Given the description of an element on the screen output the (x, y) to click on. 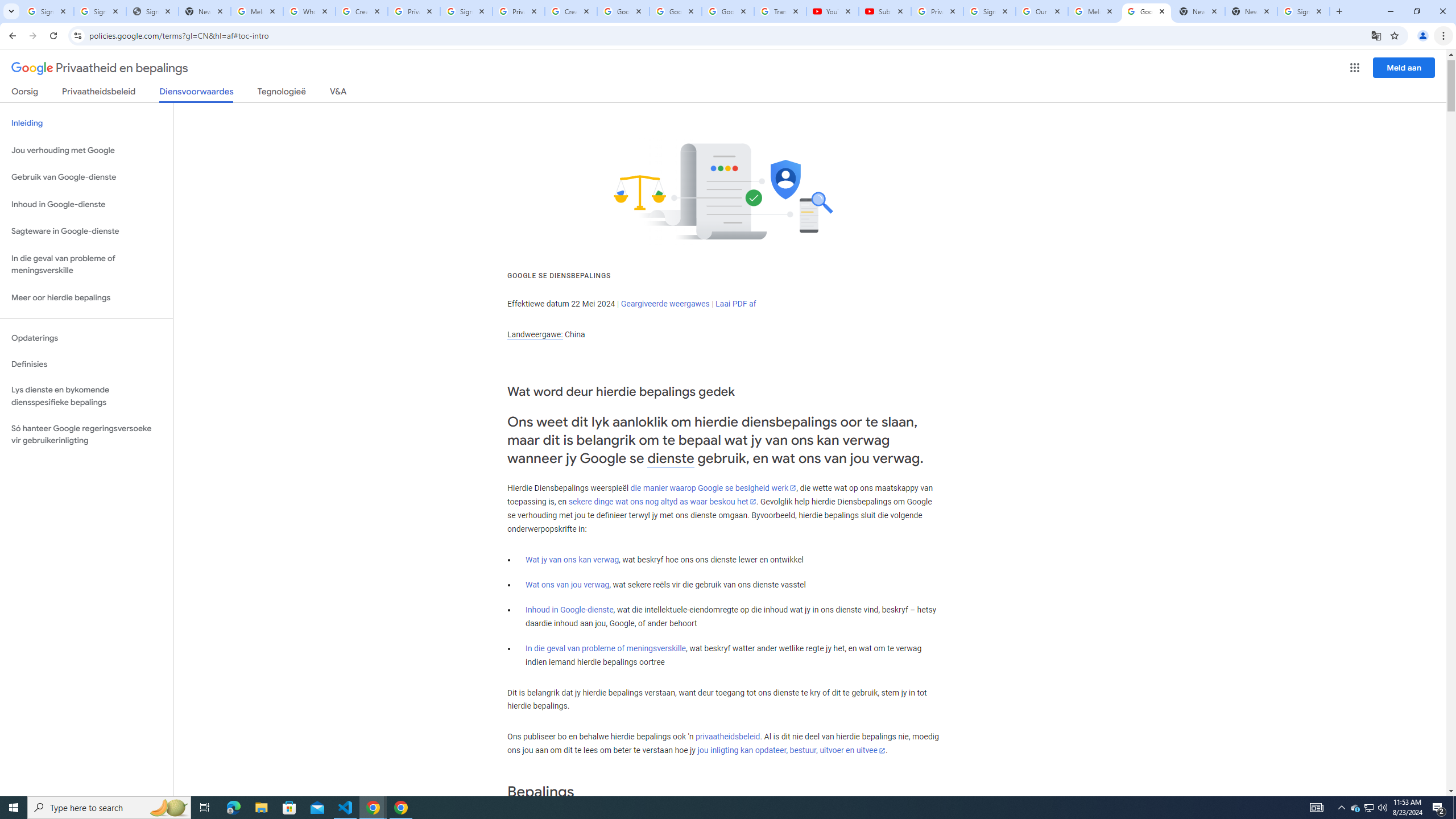
Last (828, 72)
Redo Apply Quick Style (193, 18)
Editing (1355, 48)
Undo Apply Quick Style Set (159, 18)
